Given the description of an element on the screen output the (x, y) to click on. 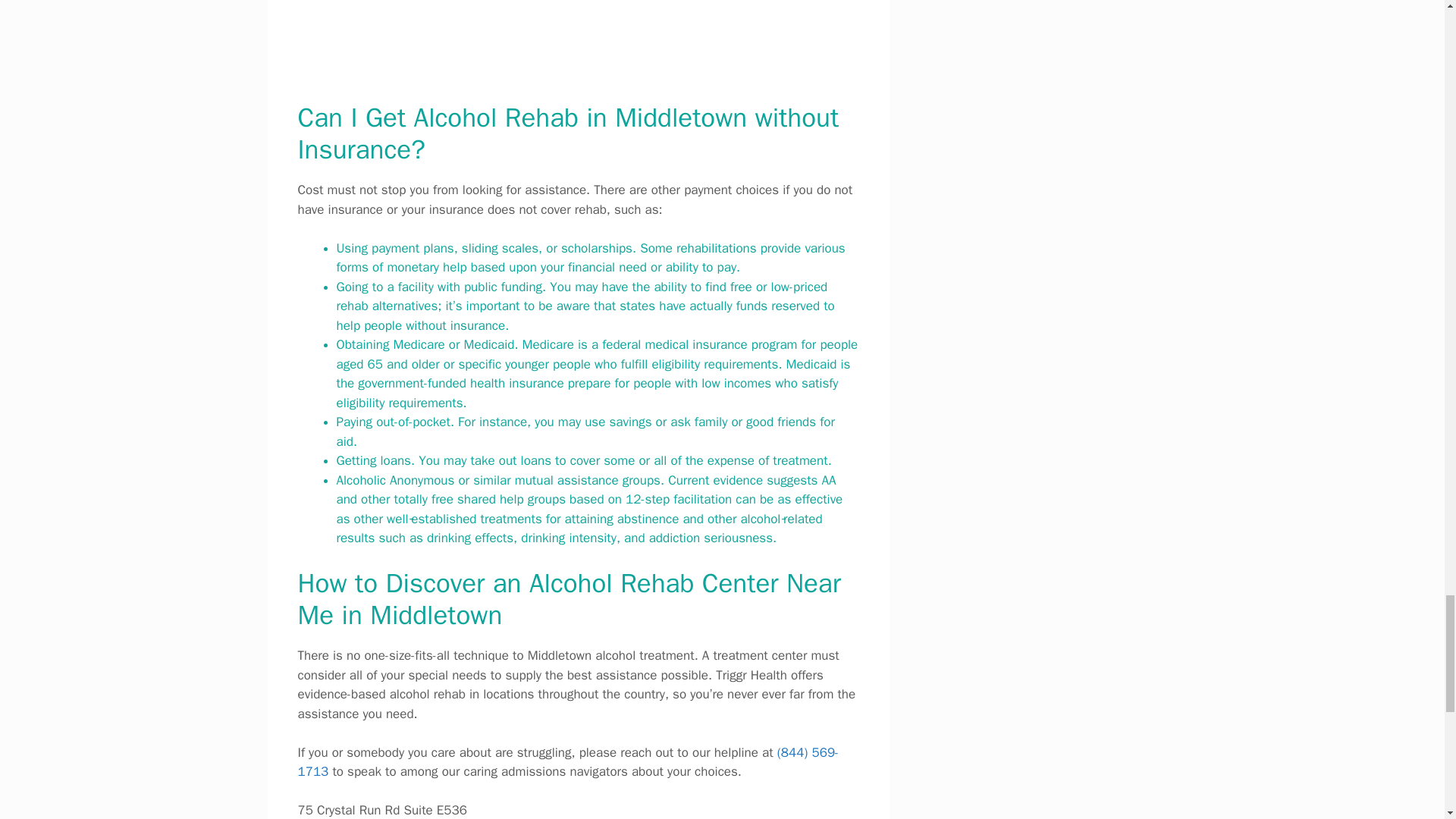
YouTube video player (577, 38)
